Given the description of an element on the screen output the (x, y) to click on. 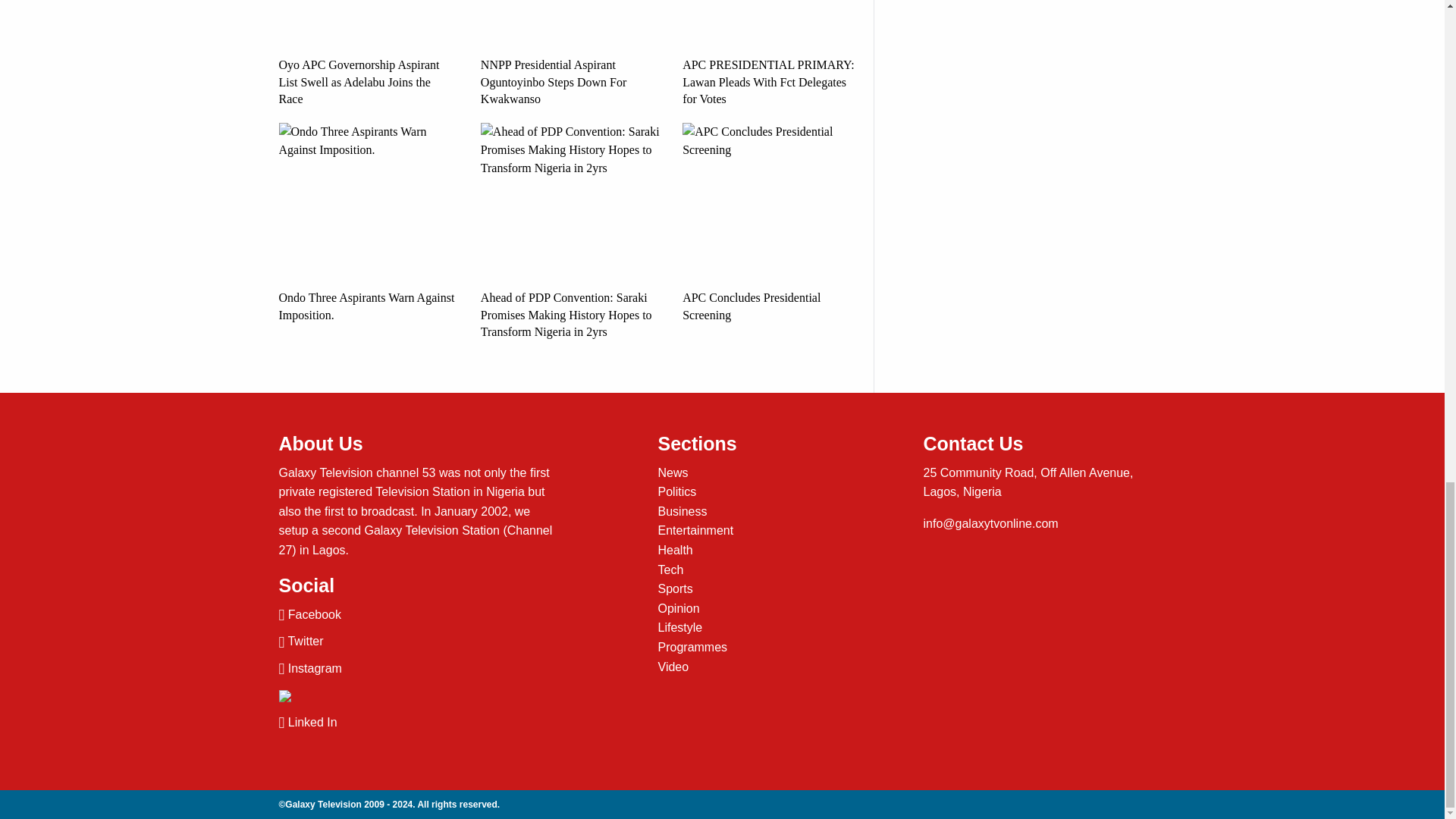
Ondo Three Aspirants Warn Against Imposition. (368, 222)
APC Concludes Presidential Screening (771, 222)
